Given the description of an element on the screen output the (x, y) to click on. 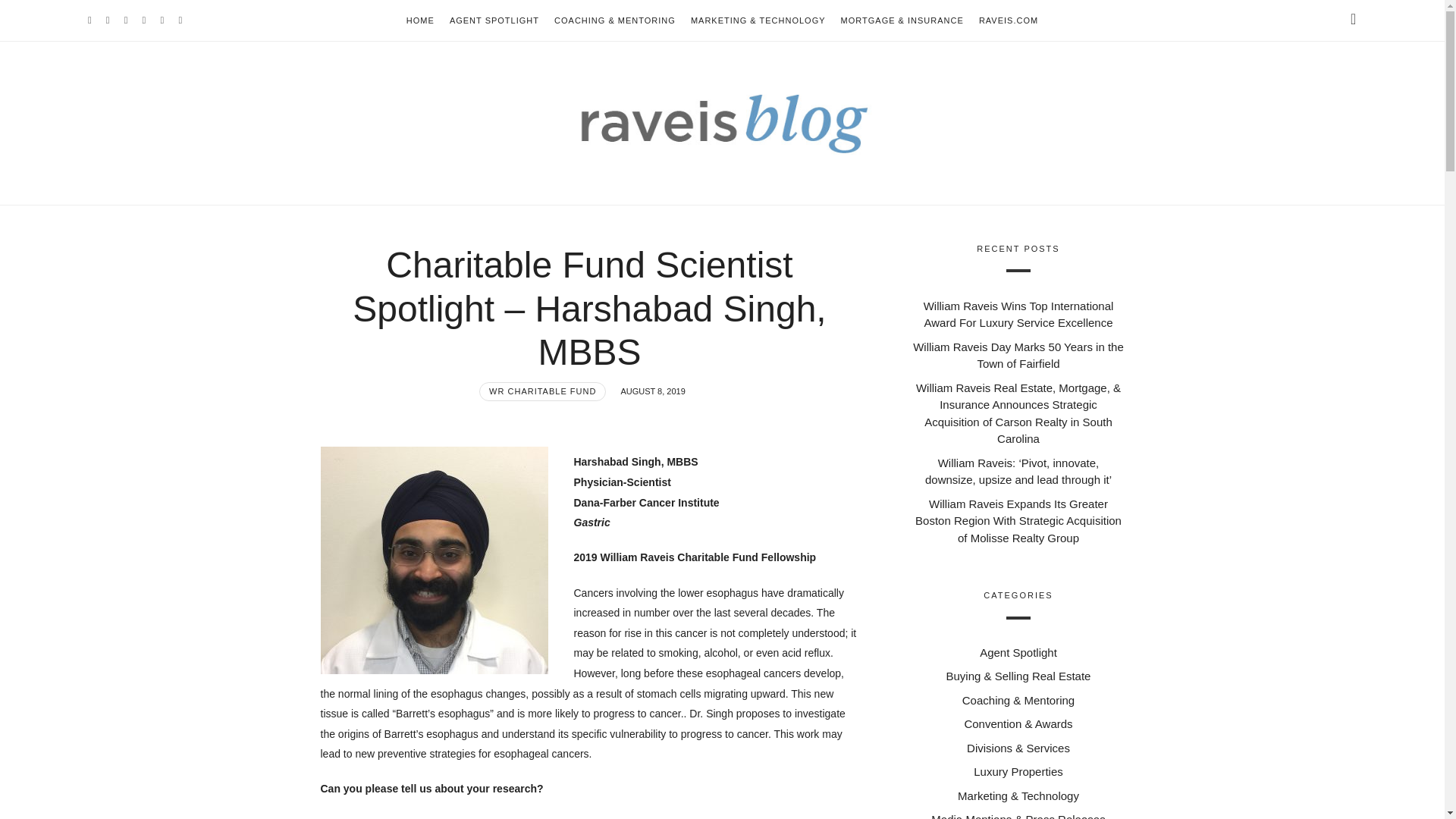
William Raveis Day Marks 50 Years in the Town of Fairfield (1018, 355)
Raveis Blog (722, 119)
AUGUST 8, 2019 (652, 390)
AGENT SPOTLIGHT (493, 20)
WR CHARITABLE FUND (542, 391)
RAVEIS.COM (1008, 20)
Agent Spotlight (1018, 652)
Search (40, 17)
